Given the description of an element on the screen output the (x, y) to click on. 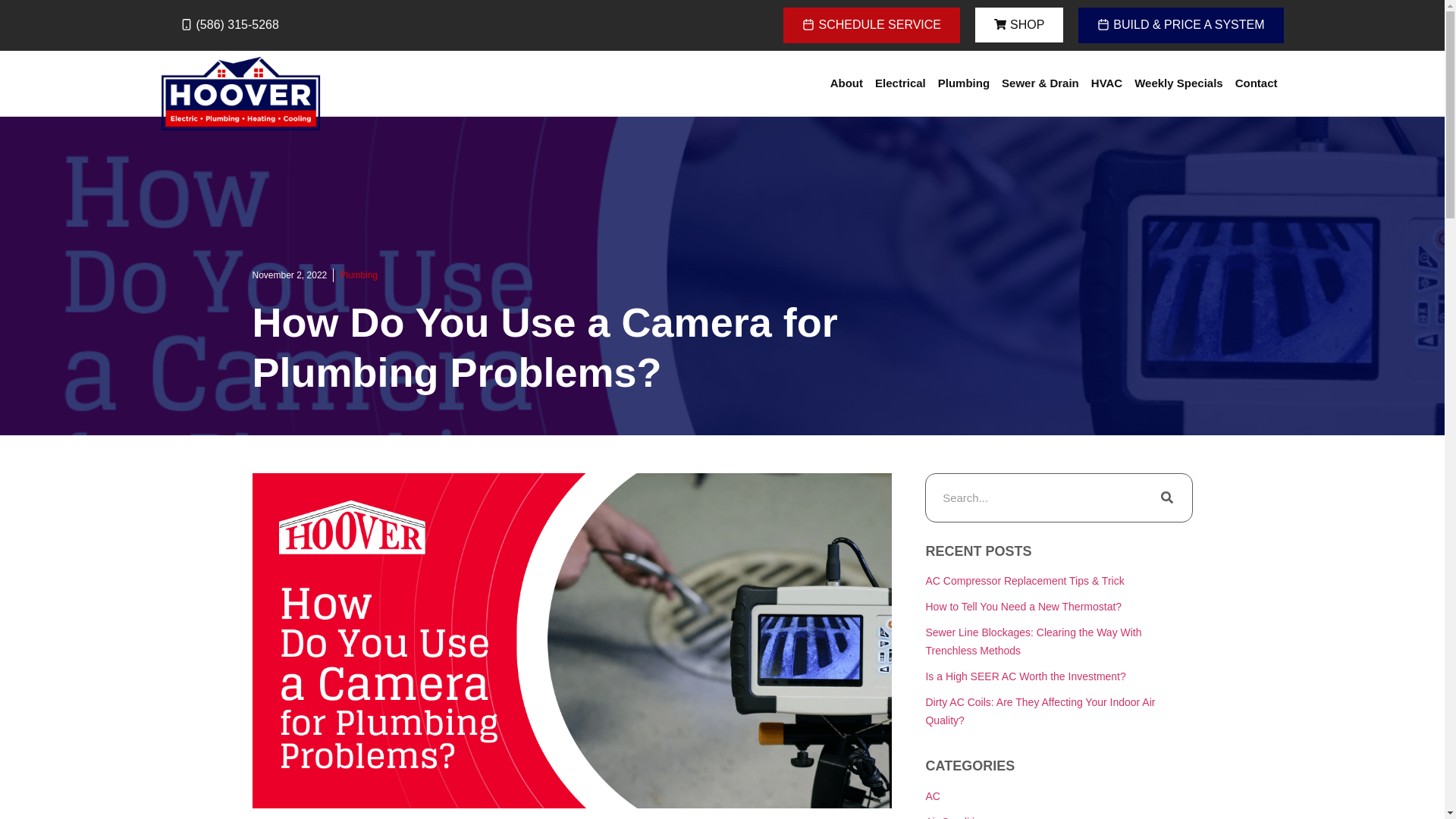
About (846, 83)
SCHEDULE SERVICE (871, 25)
Plumbing (963, 83)
SHOP (1018, 24)
Electrical (900, 83)
